Given the description of an element on the screen output the (x, y) to click on. 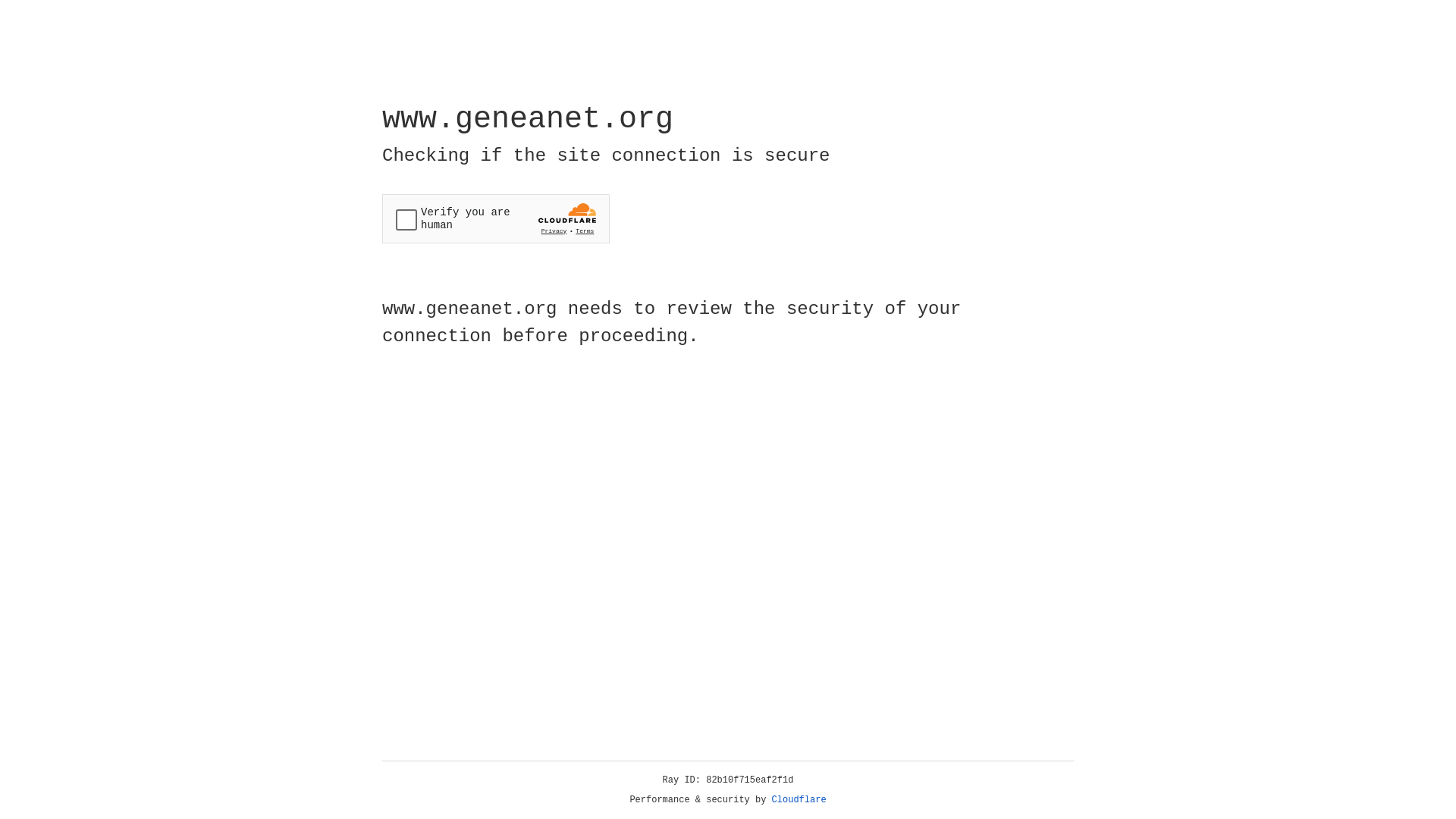
Widget containing a Cloudflare security challenge Element type: hover (495, 218)
Cloudflare Element type: text (798, 799)
